Given the description of an element on the screen output the (x, y) to click on. 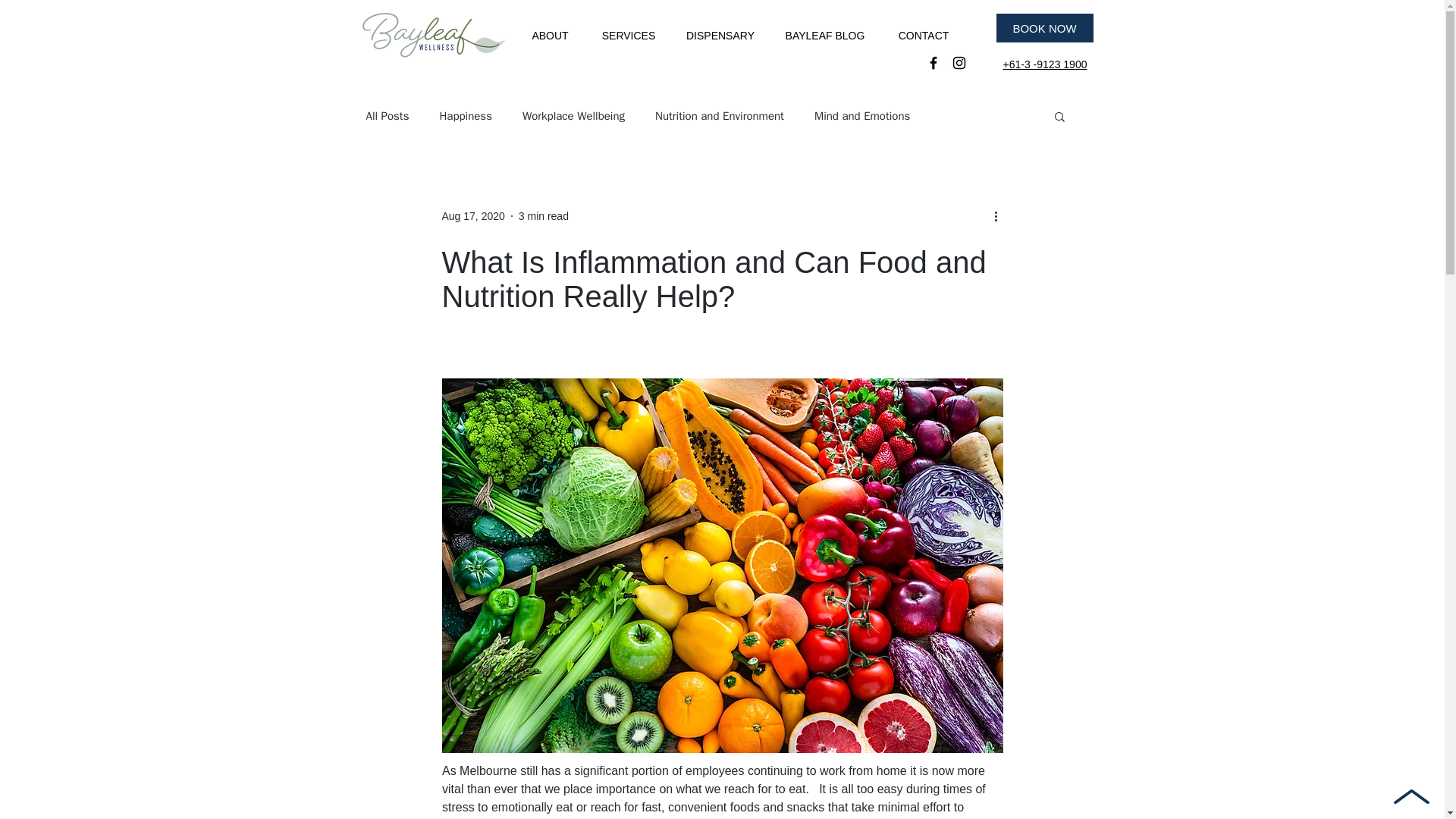
All Posts (387, 115)
DISPENSARY (719, 35)
BOOK NOW (1044, 27)
Nutrition and Environment (719, 115)
3 min read (543, 215)
Happiness (465, 115)
Aug 17, 2020 (472, 215)
CONTACT (922, 35)
SERVICES (628, 35)
Mind and Emotions (861, 115)
ABOUT (549, 35)
BAYLEAF BLOG (825, 35)
Workplace Wellbeing (573, 115)
